Given the description of an element on the screen output the (x, y) to click on. 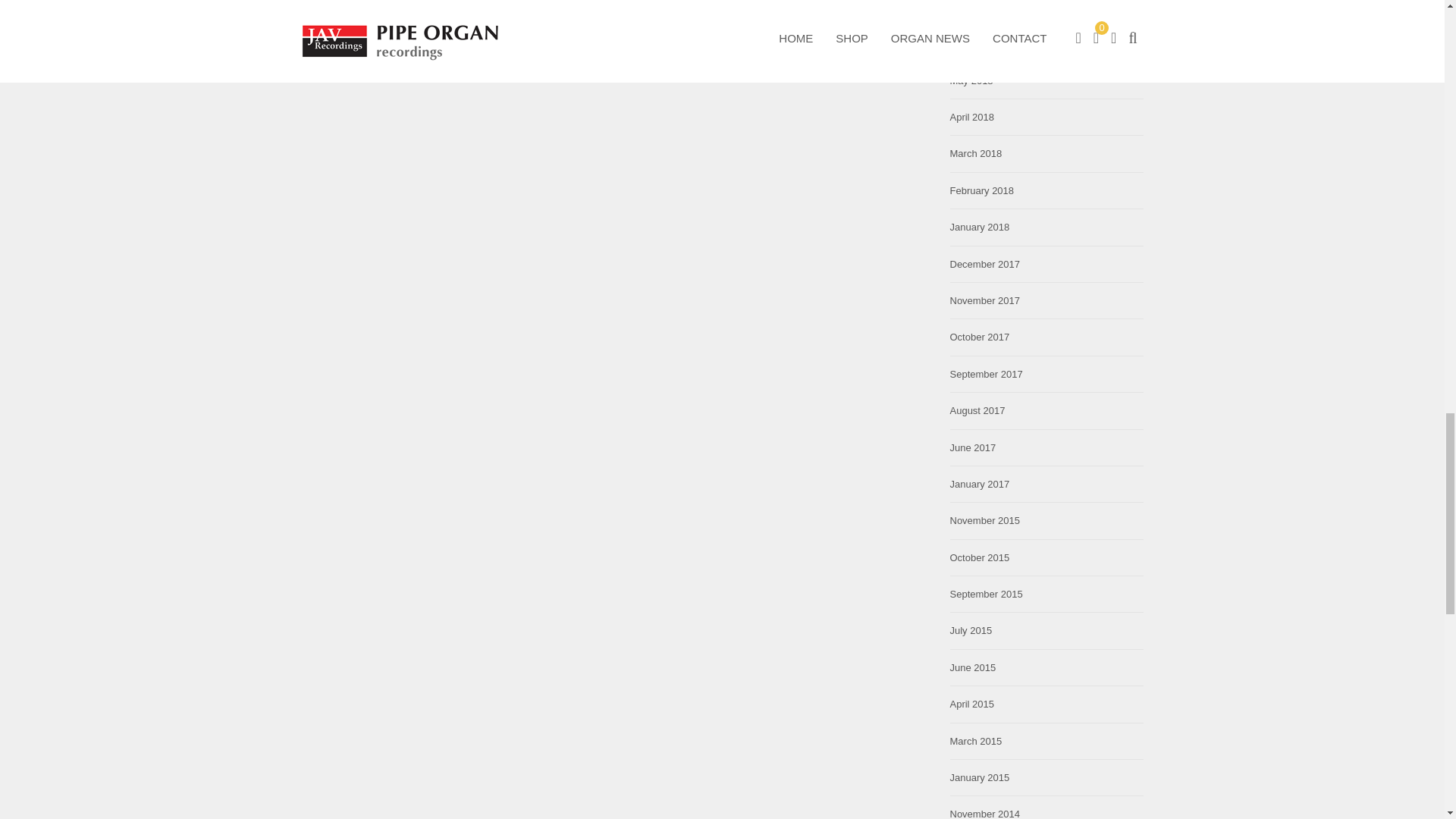
7.3.5 (614, 49)
Post Comment (370, 1)
